Given the description of an element on the screen output the (x, y) to click on. 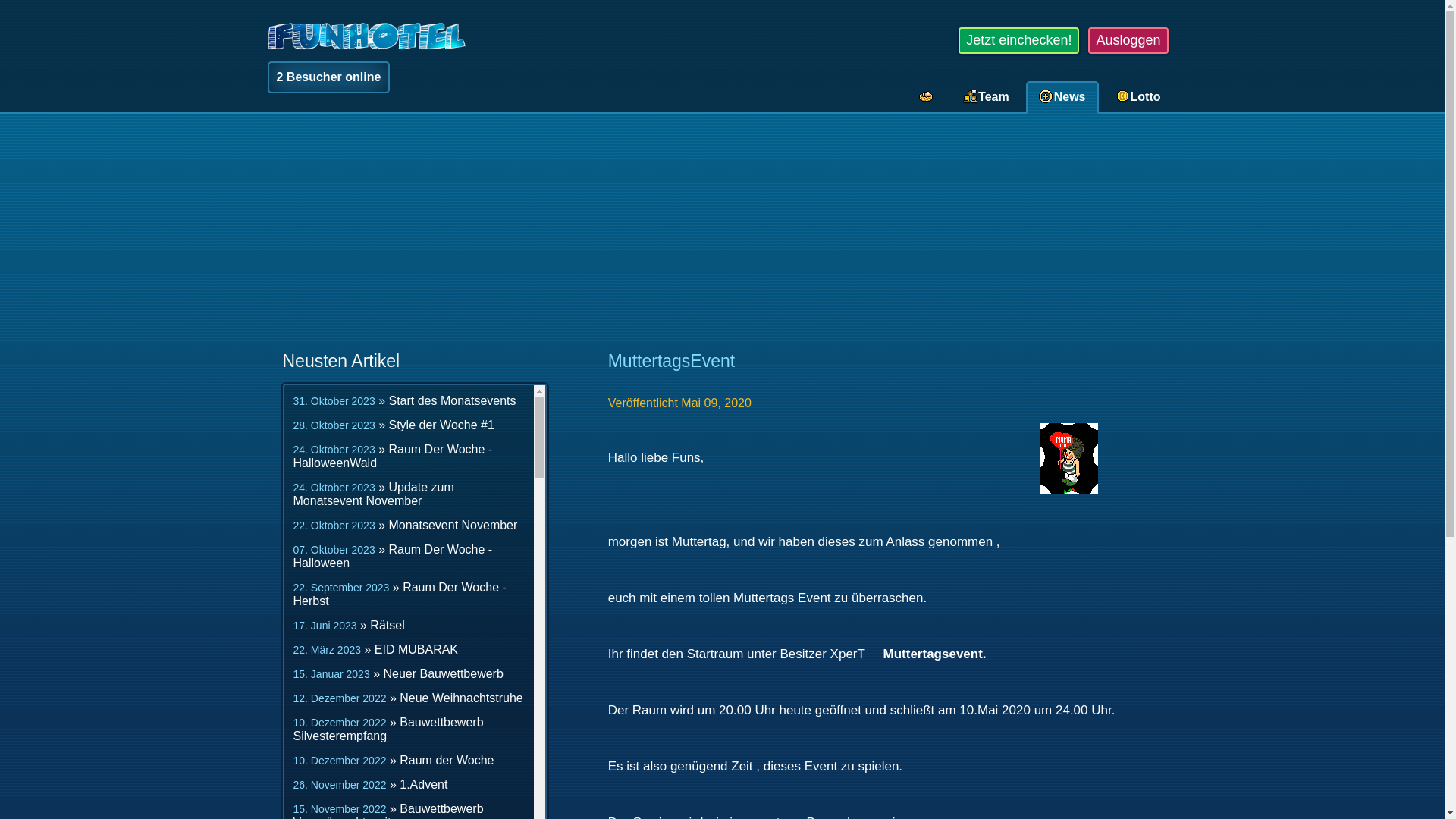
News Element type: text (1064, 96)
Lotto Element type: text (1139, 96)
Ausloggen Element type: text (1127, 40)
Advertisement Element type: hover (721, 233)
Jetzt einchecken! Element type: text (1018, 40)
Team Element type: text (988, 96)
